Given the description of an element on the screen output the (x, y) to click on. 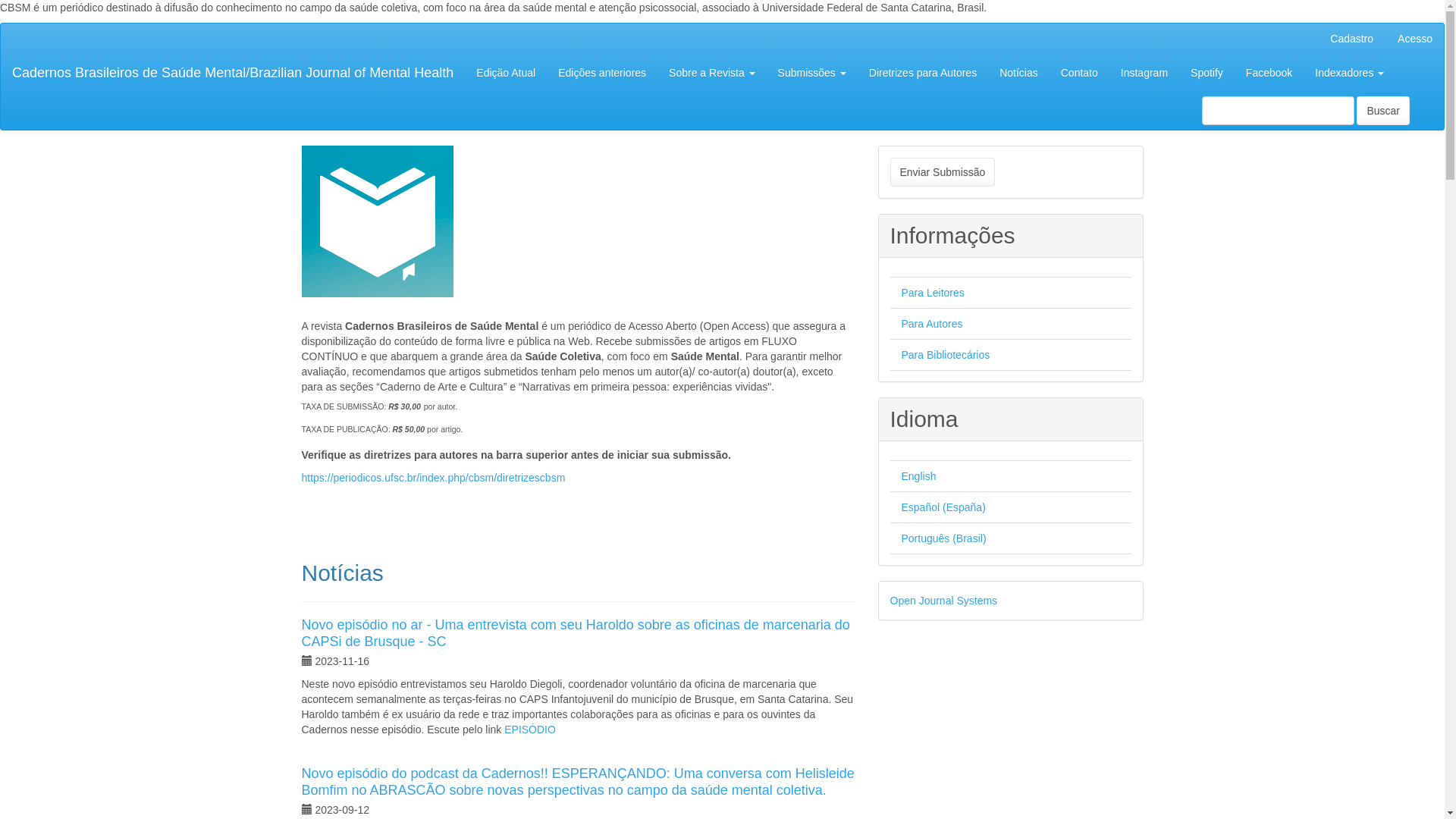
https://periodicos.ufsc.br/index.php/cbsm/diretrizescbsm Element type: text (433, 477)
Instagram Element type: text (1144, 72)
Open Journal Systems Element type: text (943, 600)
Contato Element type: text (1079, 72)
Spotify Element type: text (1206, 72)
Para Leitores Element type: text (931, 292)
Sobre a Revista Element type: text (711, 72)
Acesso Element type: text (1414, 38)
Cadastro Element type: text (1351, 38)
Diretrizes para Autores Element type: text (922, 72)
Facebook Element type: text (1268, 72)
Buscar Element type: text (1382, 110)
Indexadores Element type: text (1349, 72)
English Element type: text (917, 476)
Para Autores Element type: text (931, 323)
